Given the description of an element on the screen output the (x, y) to click on. 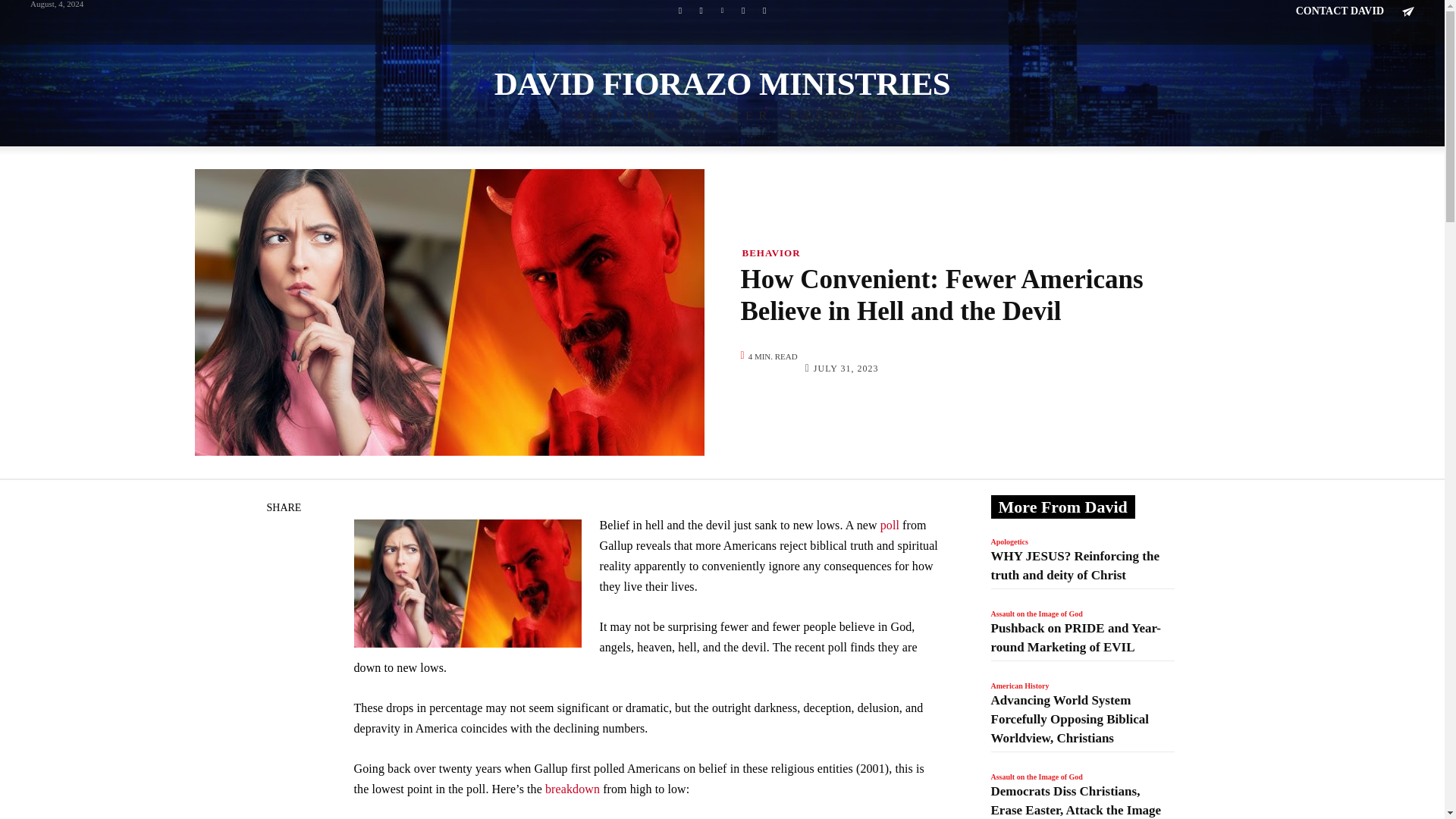
Instagram (701, 9)
Linkedin (721, 9)
Facebook (679, 9)
Twitter (743, 9)
Youtube (764, 9)
